Given the description of an element on the screen output the (x, y) to click on. 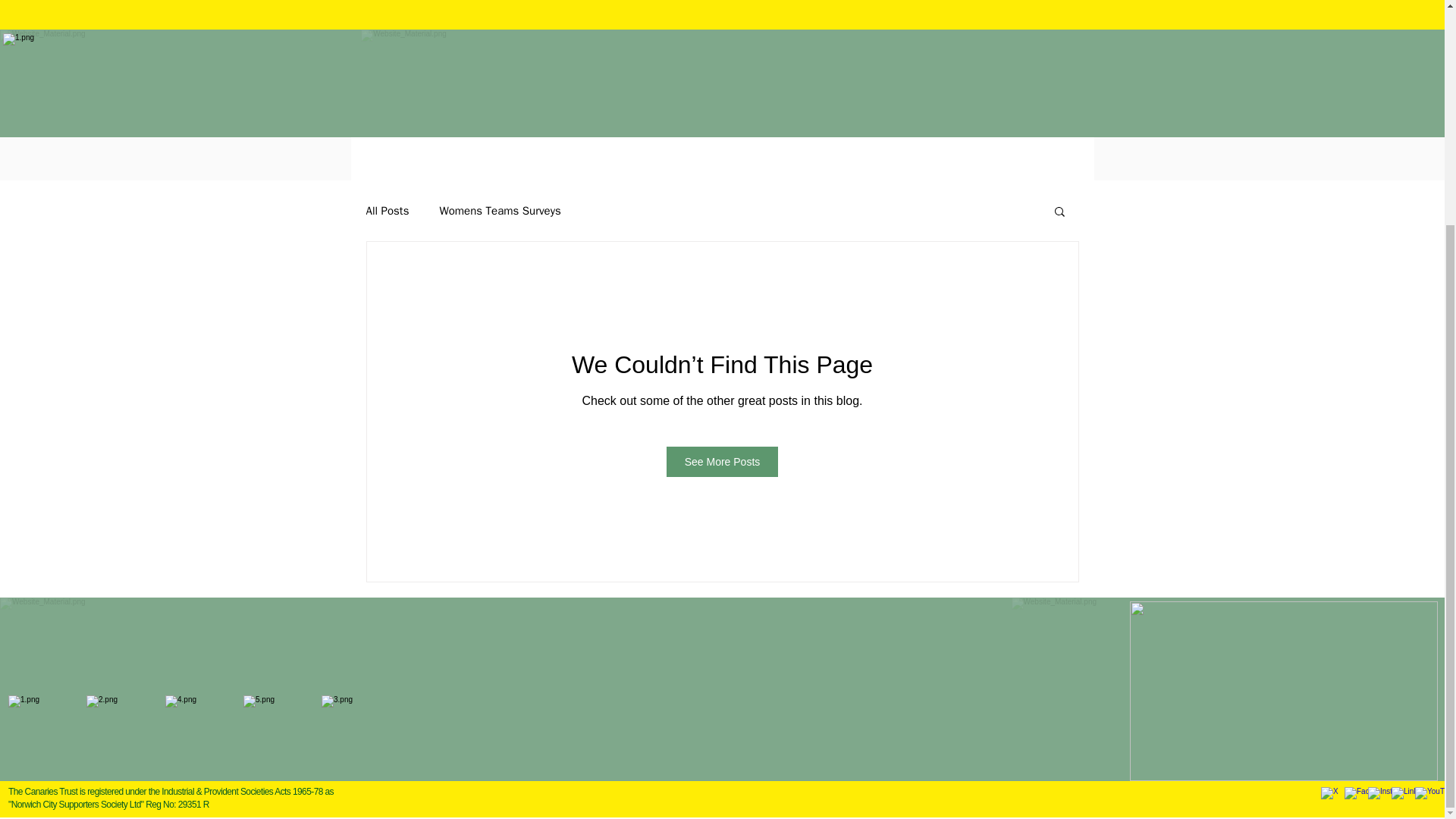
IMG-20240530-WA0000.jpg (589, 85)
See More Posts (722, 461)
Womens Teams Surveys (499, 210)
All Posts (387, 210)
